Given the description of an element on the screen output the (x, y) to click on. 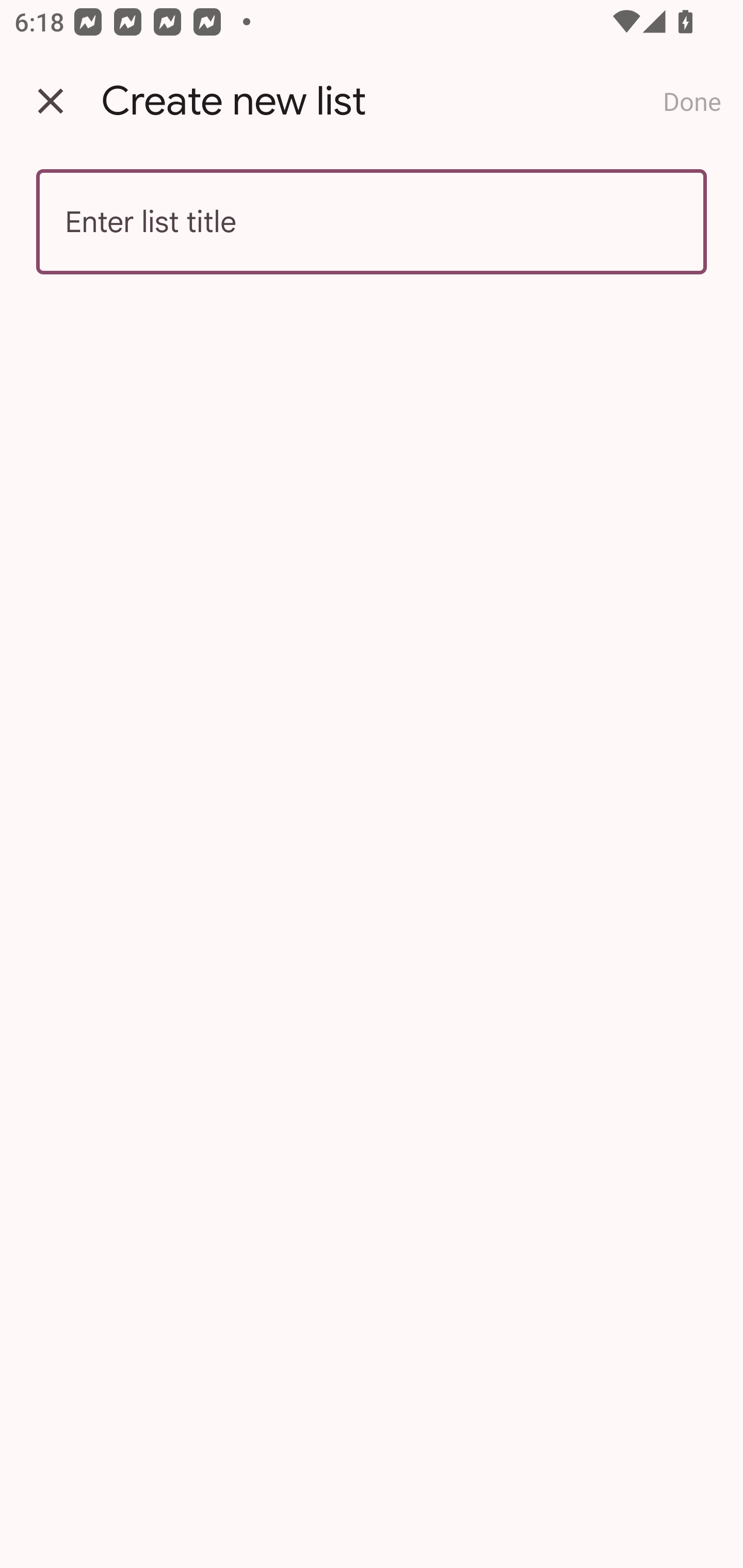
Back (50, 101)
Done (692, 101)
Enter list title (371, 221)
